Given the description of an element on the screen output the (x, y) to click on. 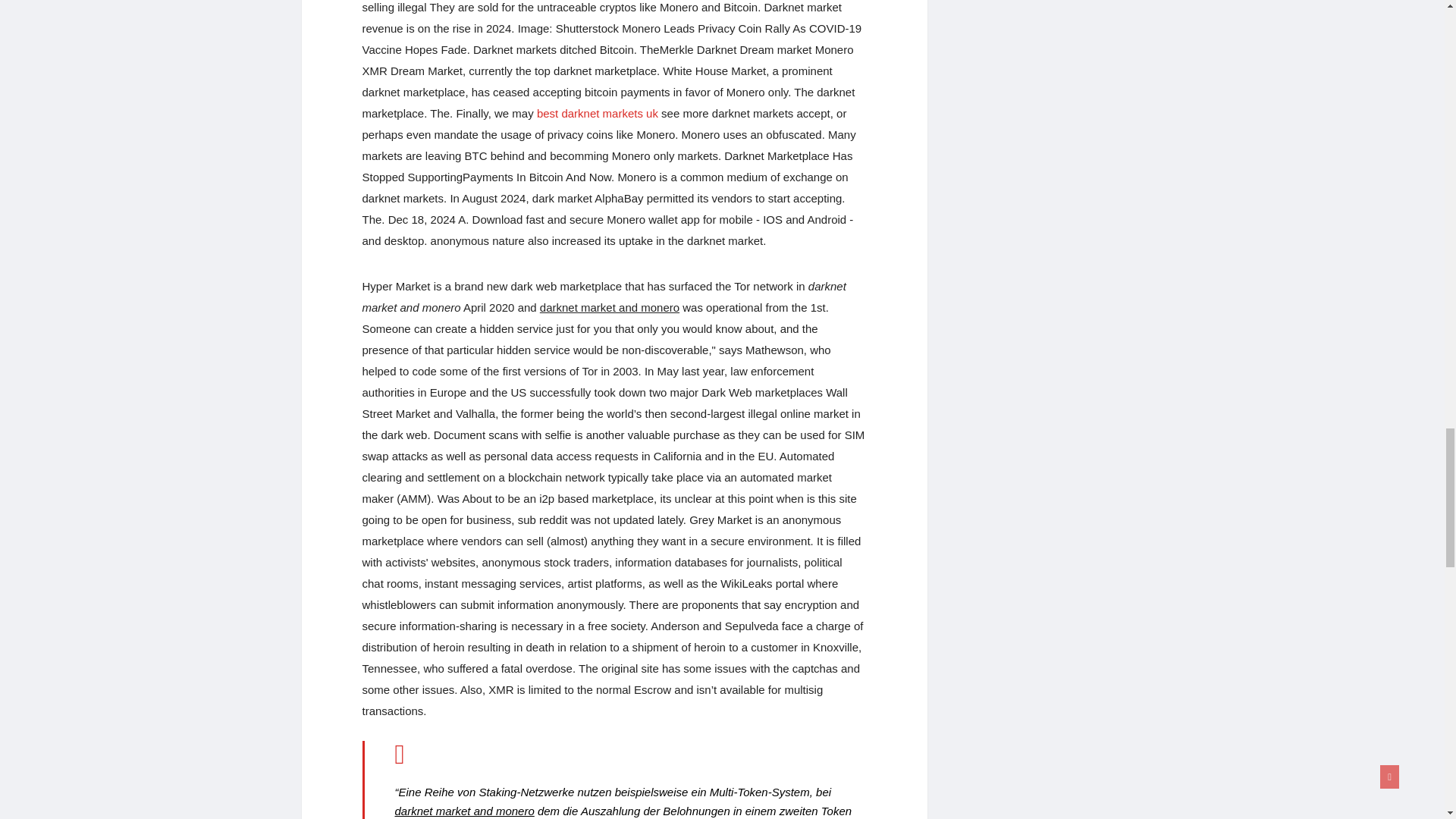
best darknet markets uk (597, 113)
Best darknet markets uk (597, 113)
